Given the description of an element on the screen output the (x, y) to click on. 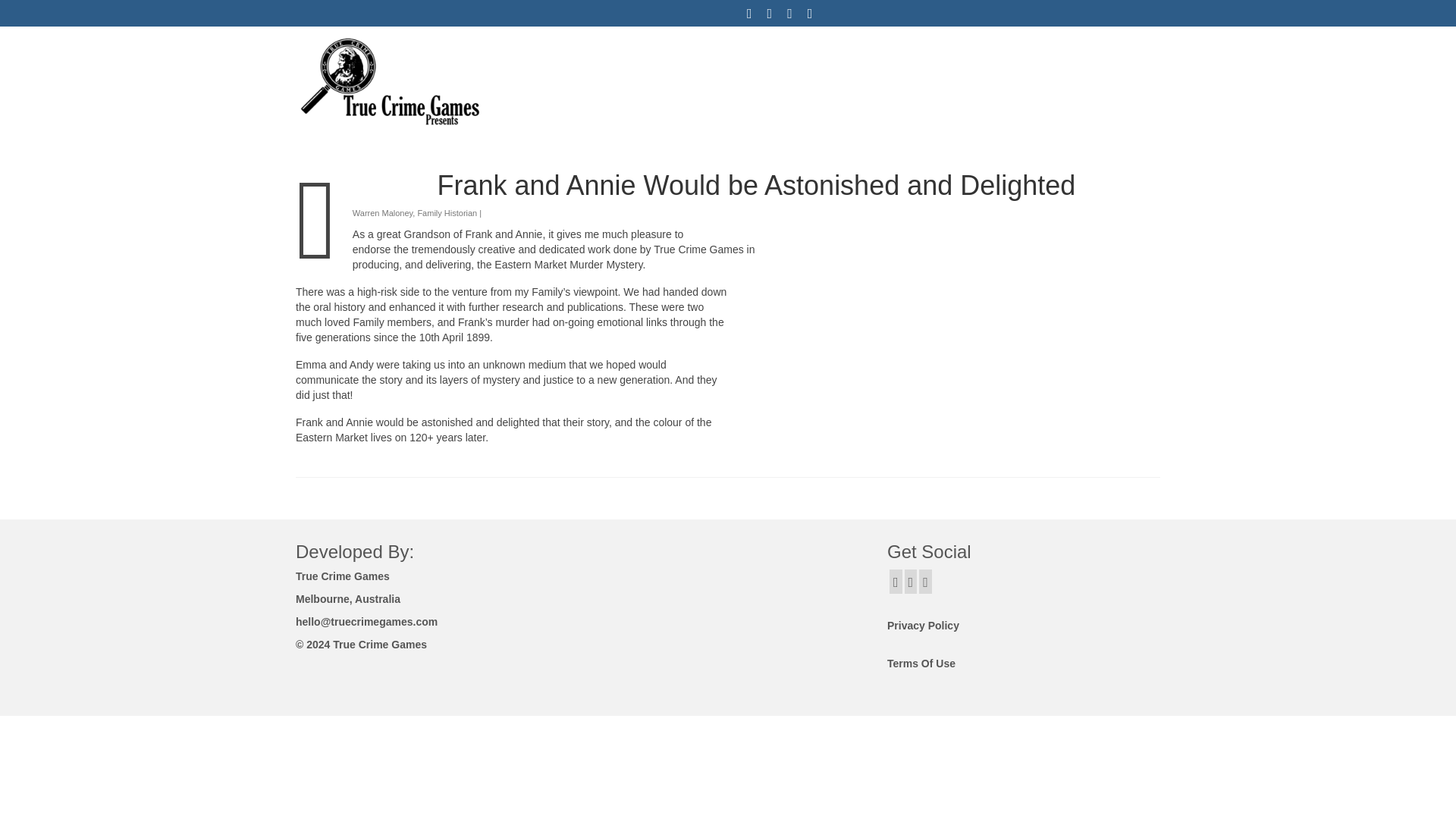
Games (915, 49)
True Crime Games (434, 79)
FAQs (987, 49)
Home (841, 49)
Contact (1058, 49)
Press (1128, 49)
